Given the description of an element on the screen output the (x, y) to click on. 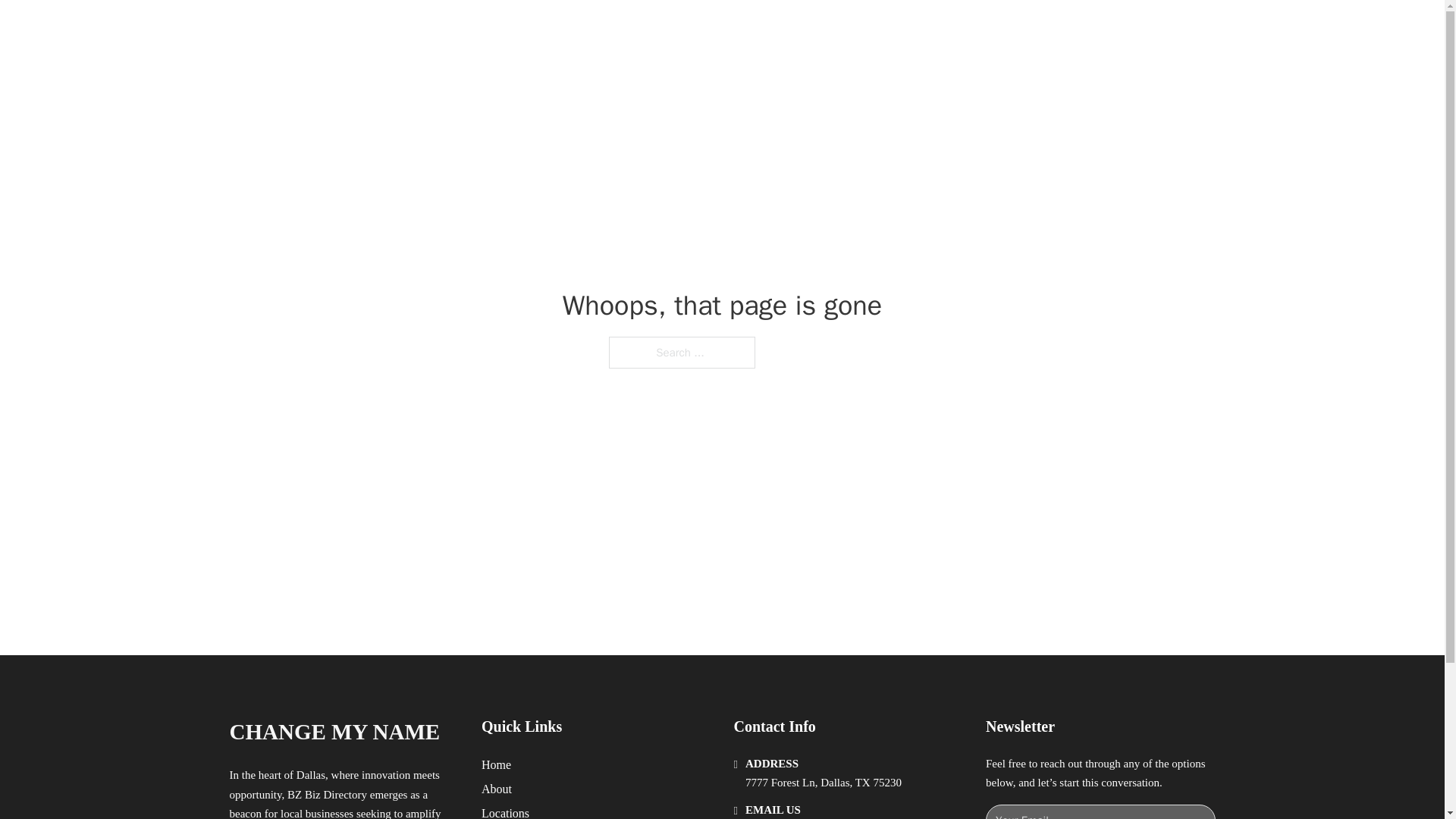
Home (496, 764)
BZ BIZ DIRECTORY (403, 28)
CHANGE MY NAME (333, 732)
LOCATIONS (990, 29)
Locations (505, 811)
About (496, 788)
HOME (919, 29)
